Given the description of an element on the screen output the (x, y) to click on. 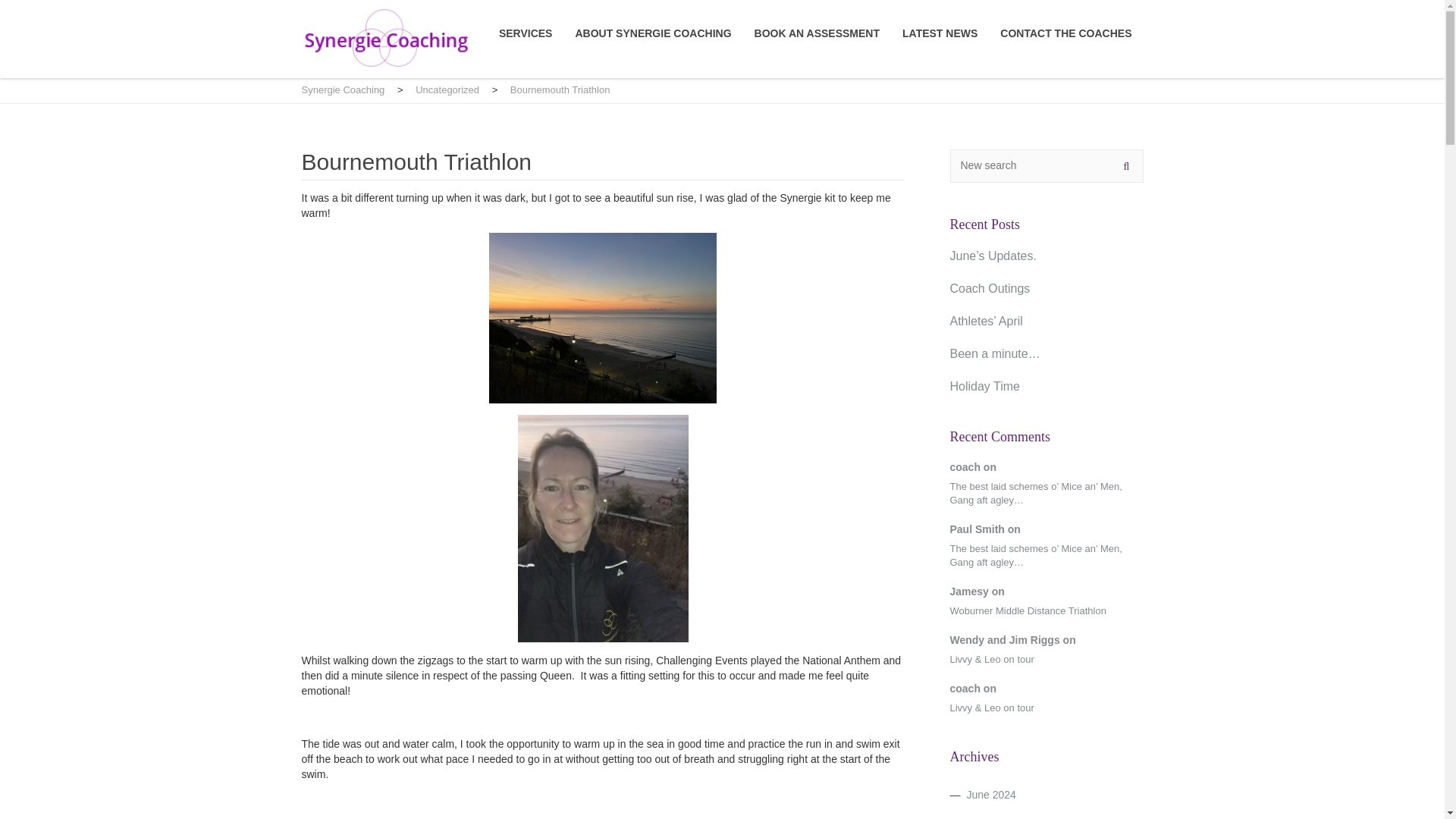
Synergie Coaching (343, 89)
May 2024 (988, 818)
Holiday Time (984, 386)
LATEST NEWS (939, 33)
June 2024 (990, 794)
BOOK AN ASSESSMENT (816, 33)
Uncategorized (446, 89)
Go to Synergie Coaching. (343, 89)
SERVICES (526, 33)
ABOUT SYNERGIE COACHING (652, 33)
